Given the description of an element on the screen output the (x, y) to click on. 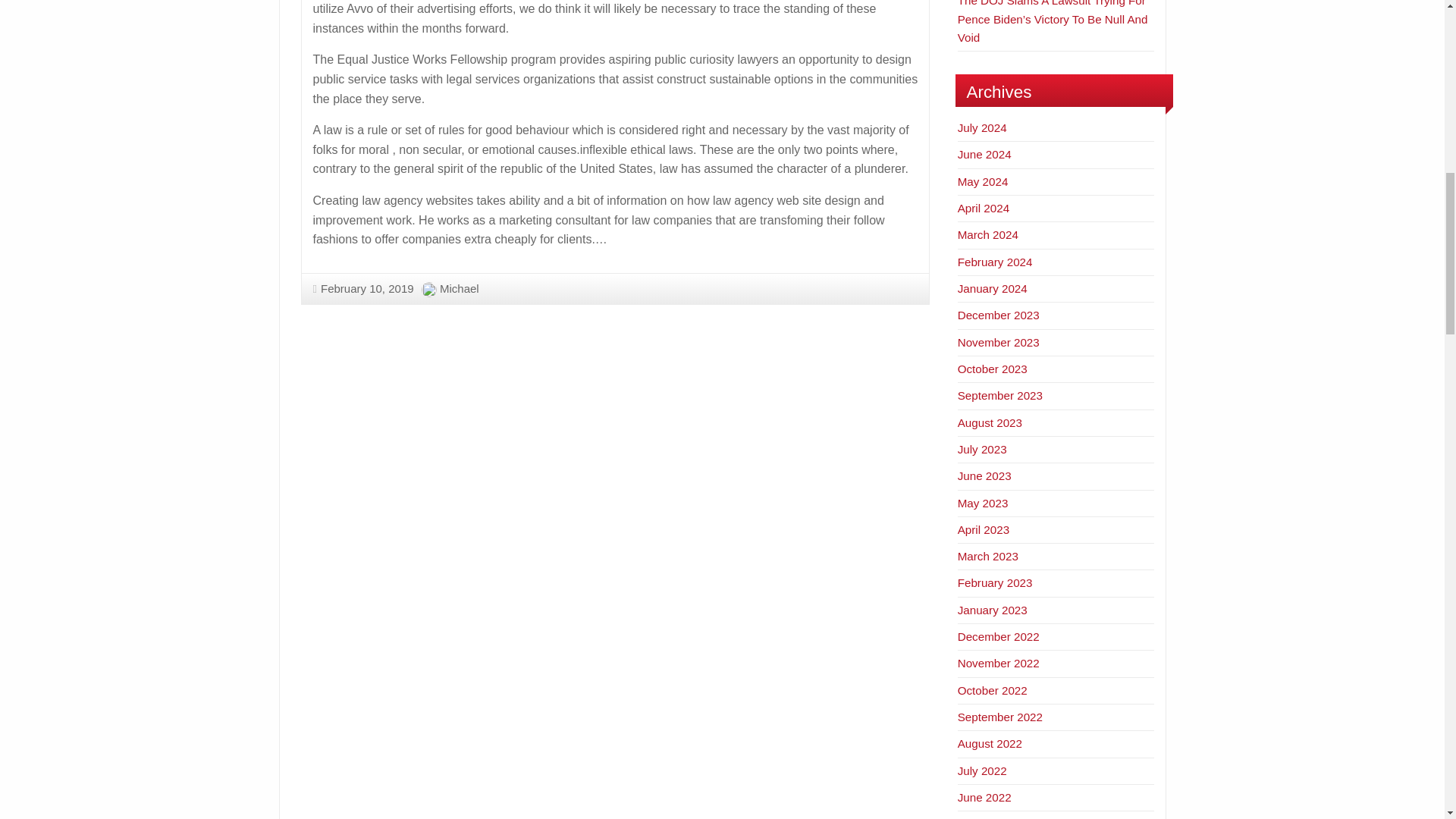
December 2023 (998, 314)
August 2023 (990, 422)
April 2023 (983, 529)
October 2023 (992, 368)
July 2023 (982, 449)
February 2024 (995, 261)
June 2024 (984, 154)
May 2024 (983, 181)
Michael (459, 287)
June 2023 (984, 475)
January 2024 (992, 287)
November 2023 (998, 341)
April 2024 (983, 207)
March 2024 (987, 234)
September 2023 (1000, 395)
